Given the description of an element on the screen output the (x, y) to click on. 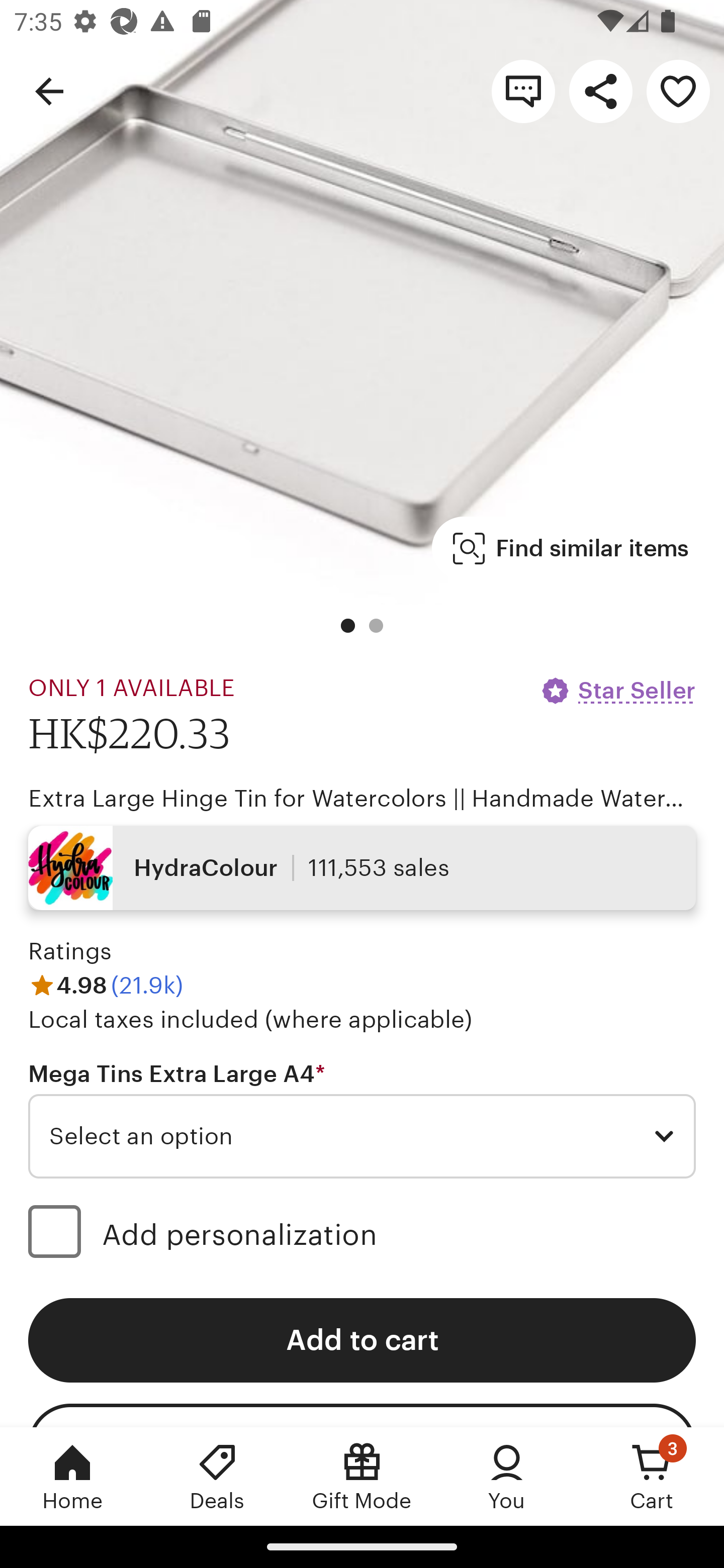
Navigate up (49, 90)
Contact shop (523, 90)
Share (600, 90)
Find similar items (571, 548)
Star Seller (617, 690)
HydraColour 111,553 sales (361, 867)
Ratings (70, 950)
4.98 (21.9k) (105, 986)
Select an option (361, 1136)
Add personalization (optional) Add personalization (362, 1234)
Add to cart (361, 1340)
Deals (216, 1475)
Gift Mode (361, 1475)
You (506, 1475)
Cart, 3 new notifications Cart (651, 1475)
